Given the description of an element on the screen output the (x, y) to click on. 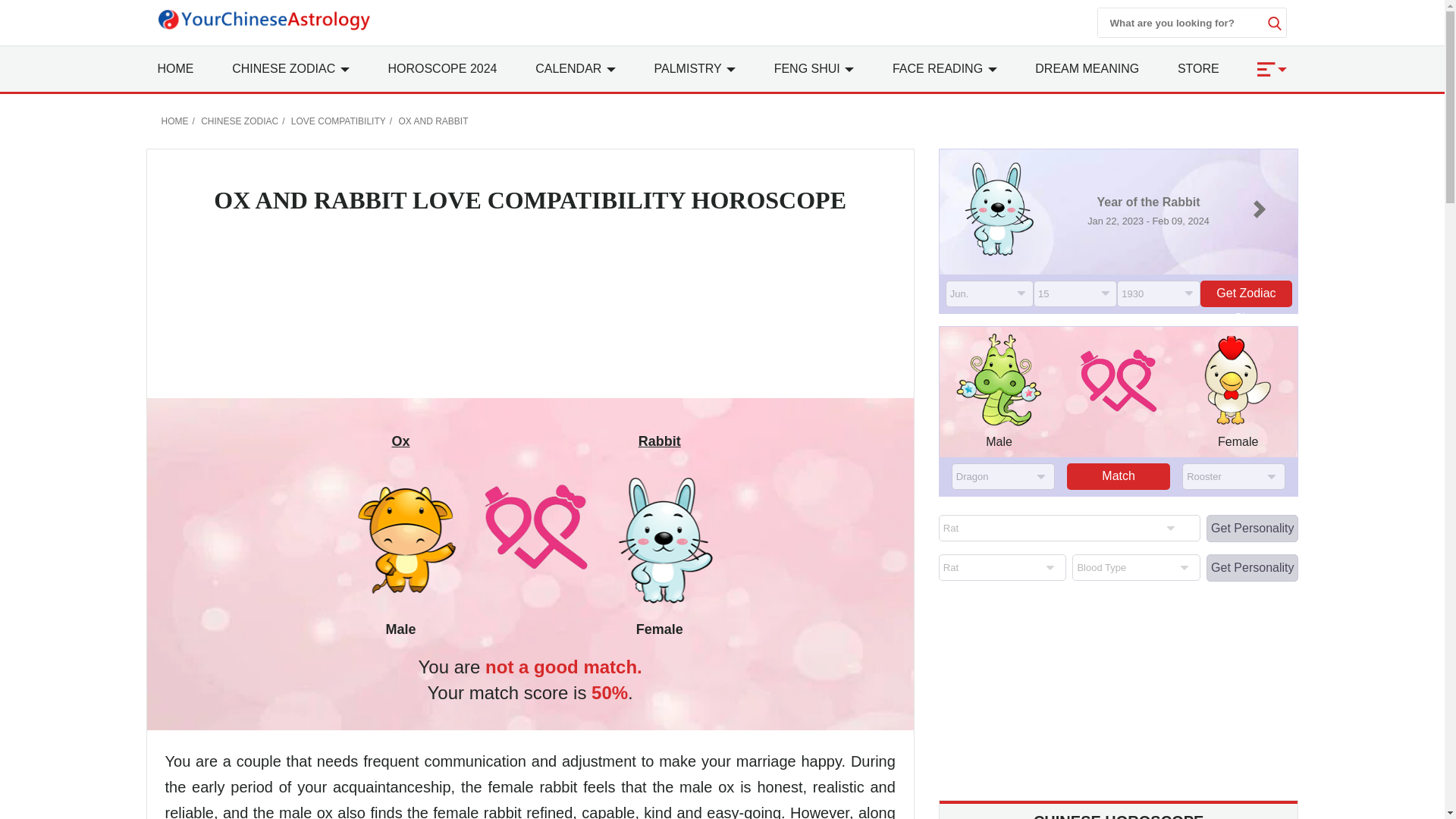
CALENDAR (575, 68)
Advertisement (1118, 694)
PALMISTRY (694, 68)
HOME (175, 68)
HOROSCOPE 2024 (441, 68)
Chinese Zodiac Horoscope (1118, 816)
Advertisement (530, 309)
CHINESE ZODIAC (290, 68)
